Given the description of an element on the screen output the (x, y) to click on. 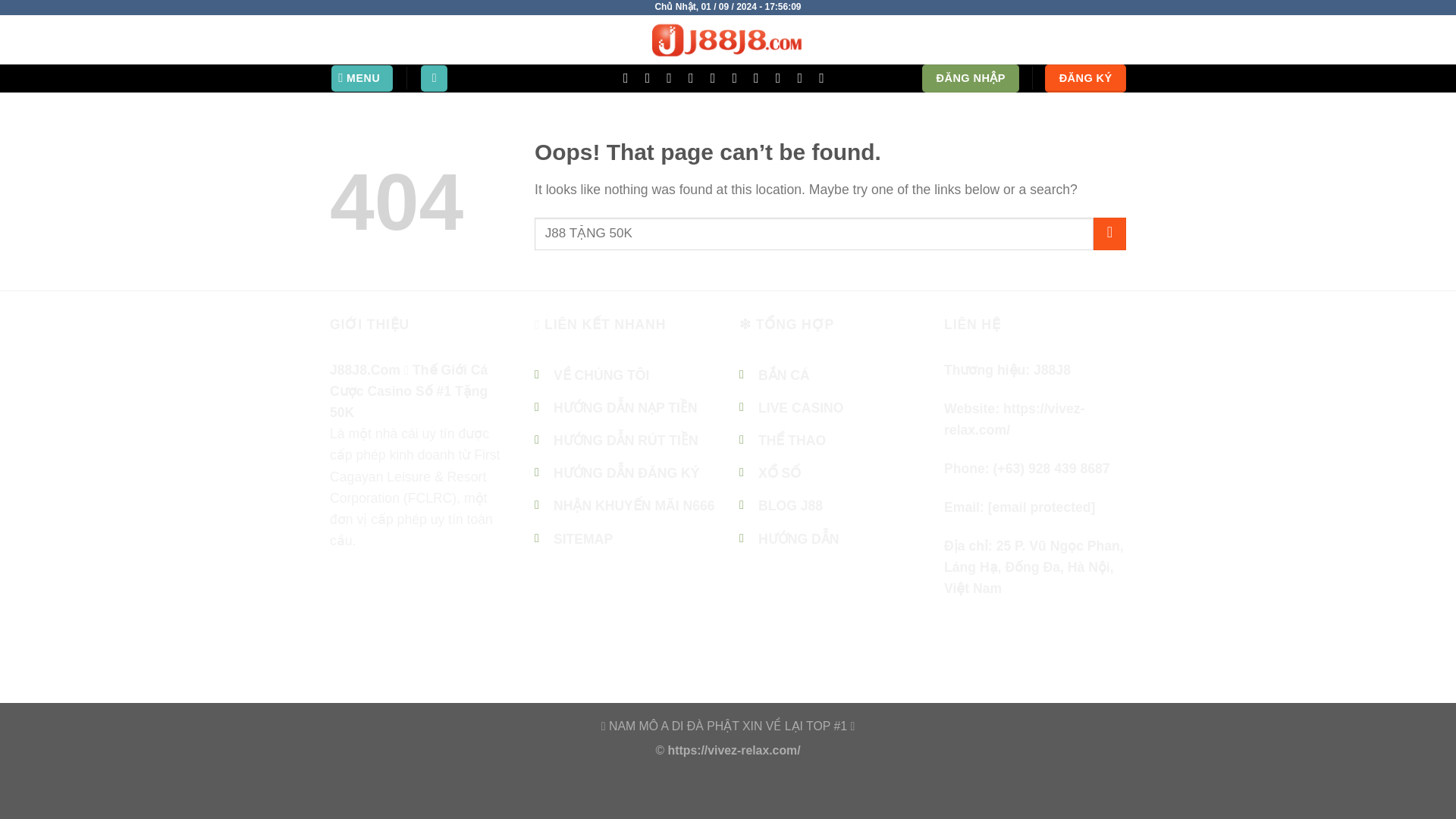
Follow on Facebook (344, 611)
Flickr (782, 77)
SITEMAP (582, 538)
Subscribe to RSS (738, 77)
J88 - J88 (727, 39)
Send us an email (672, 77)
Follow on Twitter (652, 77)
Follow on Twitch (825, 77)
Follow on Pinterest (465, 611)
Call us (694, 77)
